Given the description of an element on the screen output the (x, y) to click on. 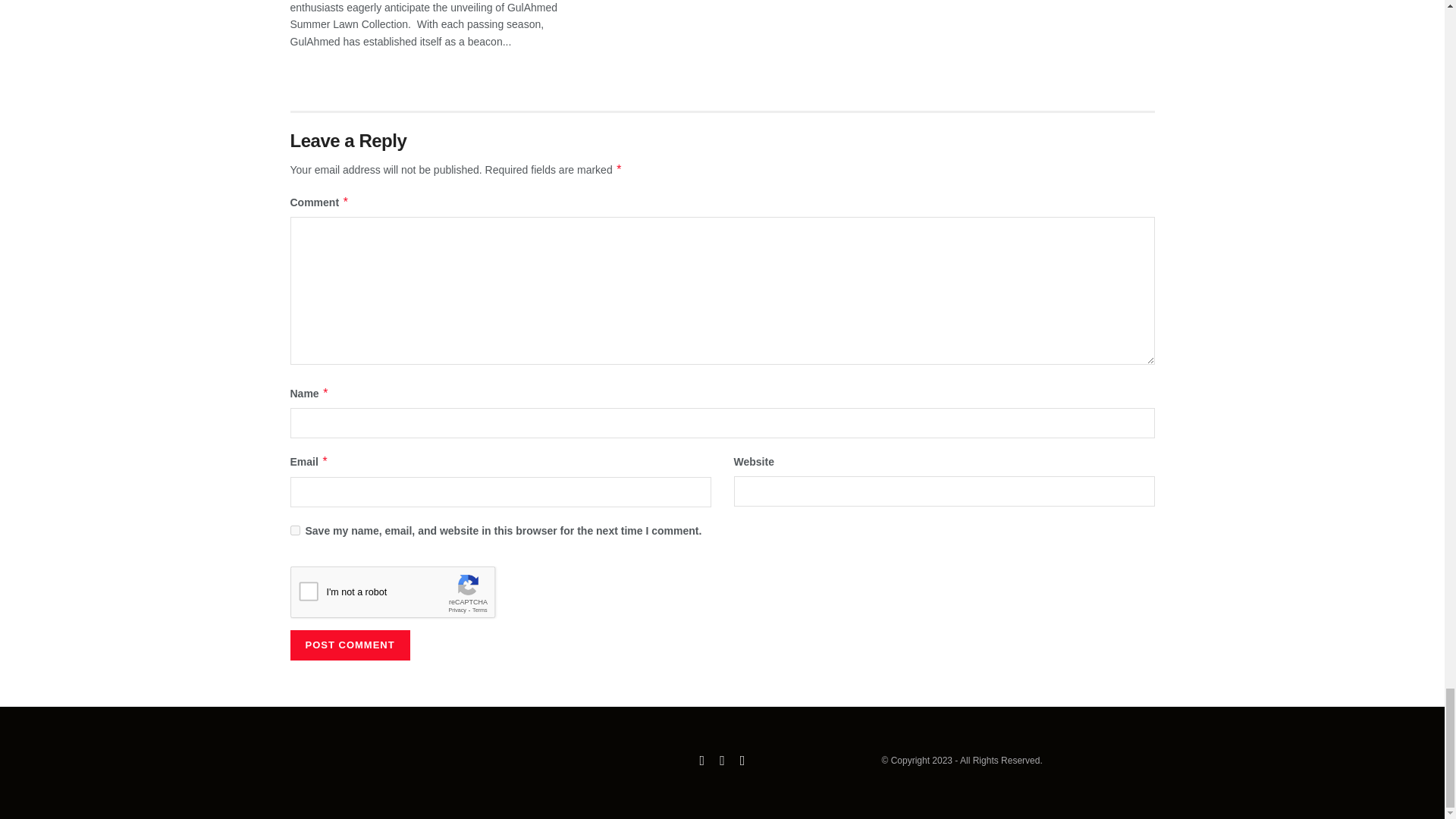
yes (294, 530)
reCAPTCHA (404, 595)
Post Comment (349, 644)
